Given the description of an element on the screen output the (x, y) to click on. 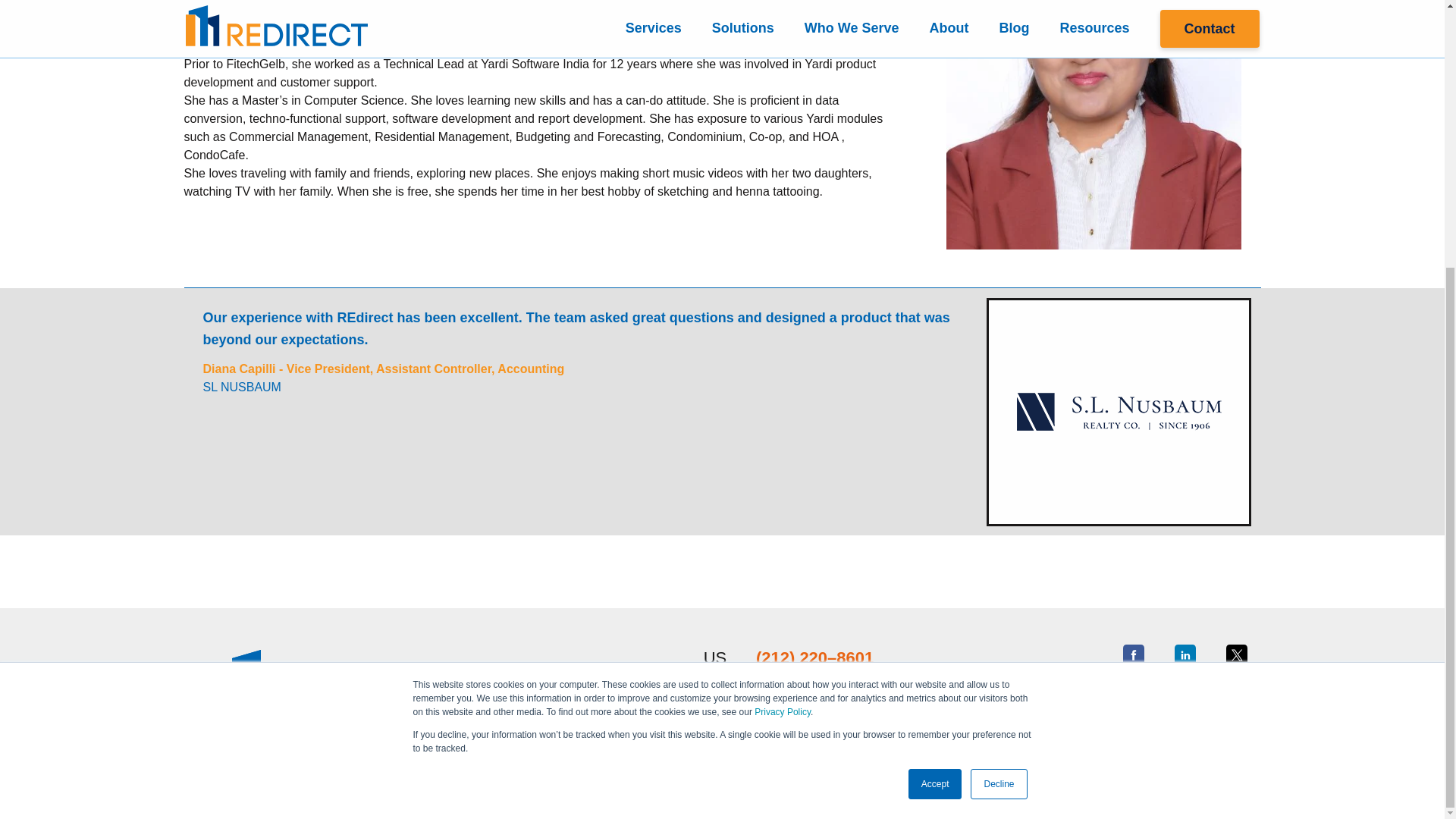
Decline (998, 395)
Accept (935, 395)
Privacy Policy (782, 322)
